Given the description of an element on the screen output the (x, y) to click on. 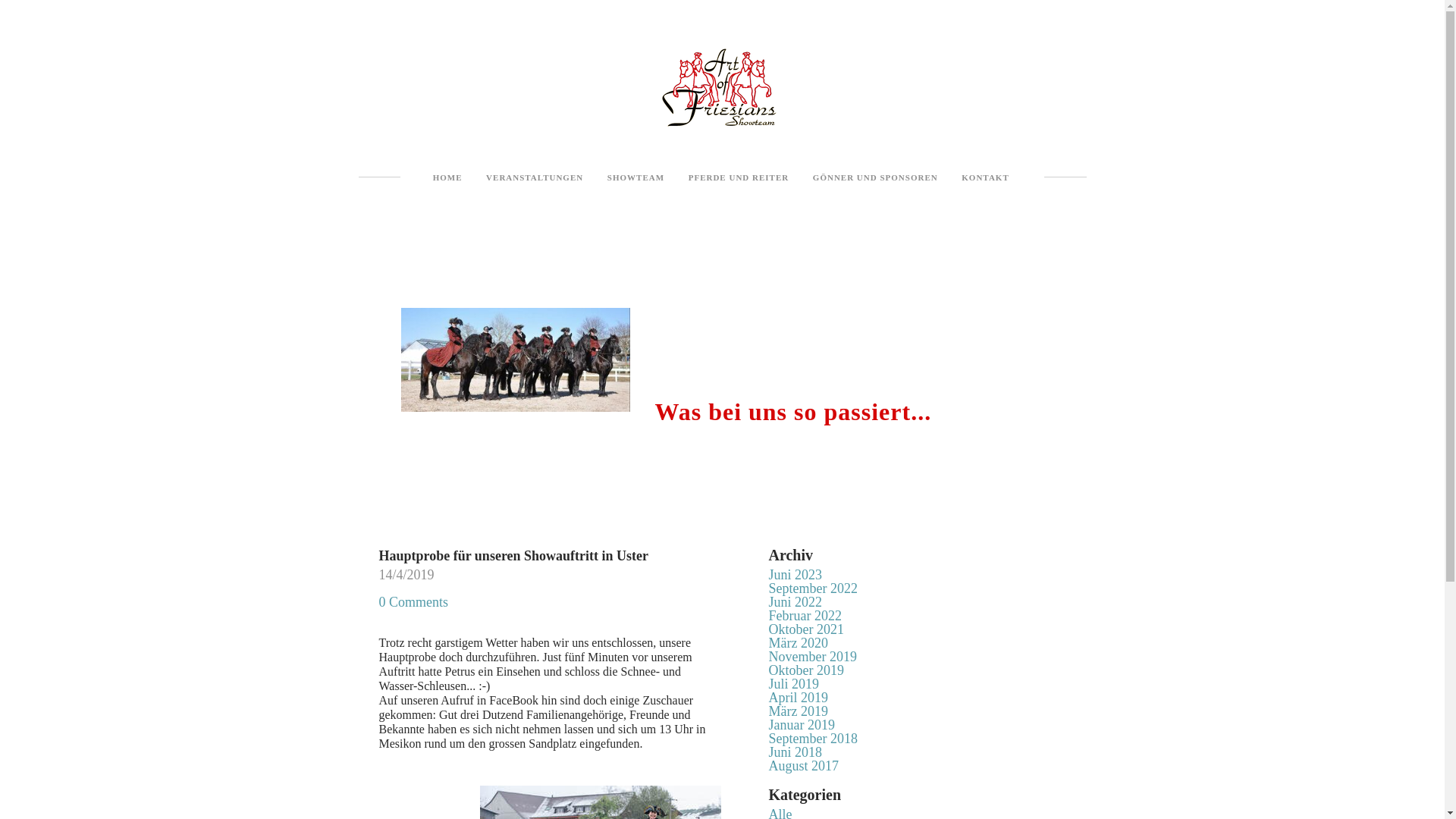
Oktober 2019 Element type: text (806, 669)
September 2022 Element type: text (812, 588)
September 2018 Element type: text (812, 738)
Juni 2023 Element type: text (795, 574)
HOME Element type: text (447, 177)
November 2019 Element type: text (812, 656)
0 Comments Element type: text (413, 601)
PFERDE UND REITER Element type: text (738, 177)
August 2017 Element type: text (803, 765)
Juni 2018 Element type: text (795, 751)
Juli 2019 Element type: text (793, 683)
KONTAKT Element type: text (984, 177)
SHOWTEAM Element type: text (635, 177)
Juni 2022 Element type: text (795, 601)
April 2019 Element type: text (798, 697)
VERANSTALTUNGEN Element type: text (534, 177)
Februar 2022 Element type: text (804, 615)
Januar 2019 Element type: text (801, 724)
Oktober 2021 Element type: text (806, 629)
